Given the description of an element on the screen output the (x, y) to click on. 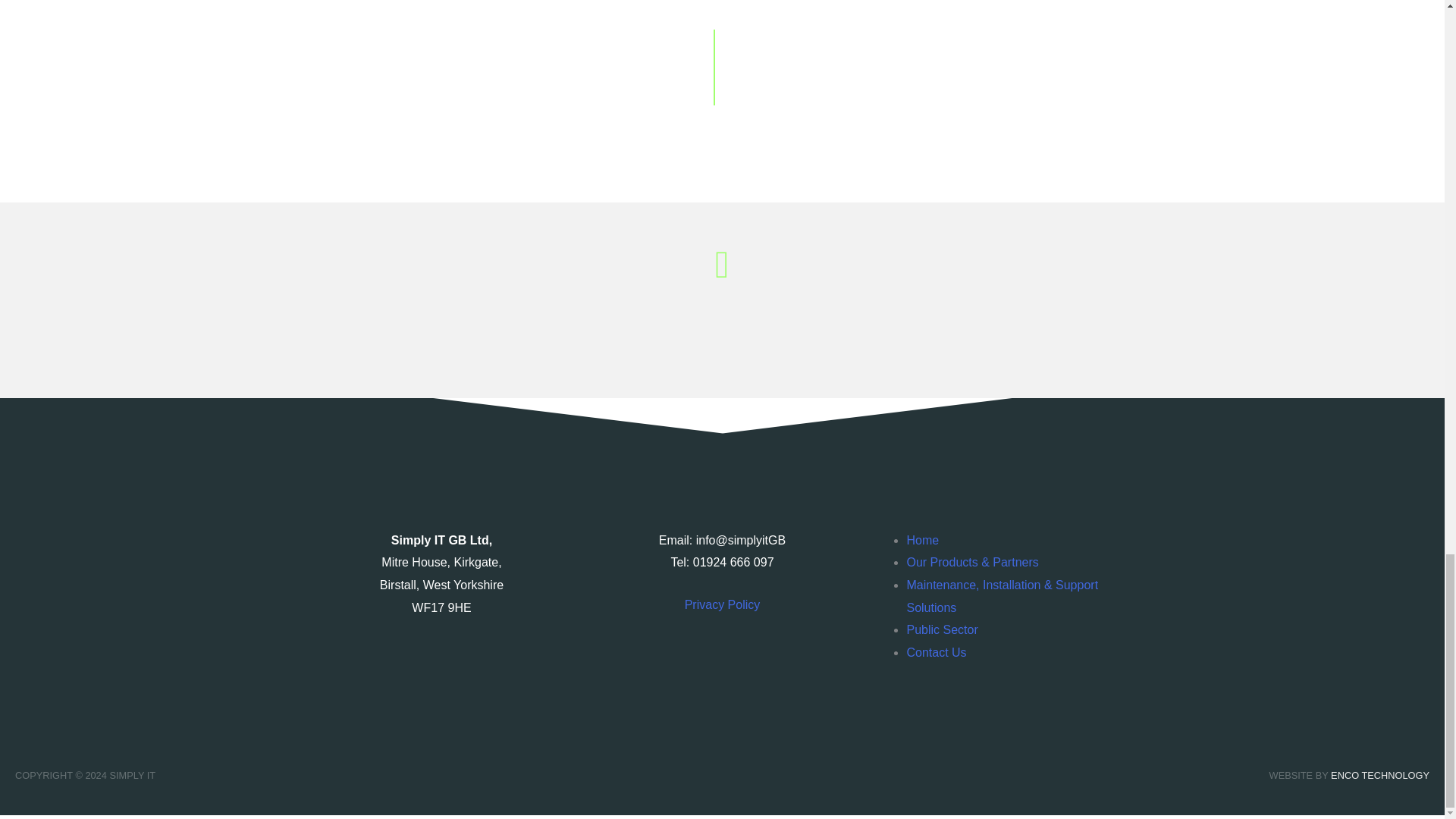
ENCO TECHNOLOGY (1379, 775)
Contact Us (935, 652)
Home (922, 540)
Public Sector (940, 629)
Privacy Policy (722, 604)
